Given the description of an element on the screen output the (x, y) to click on. 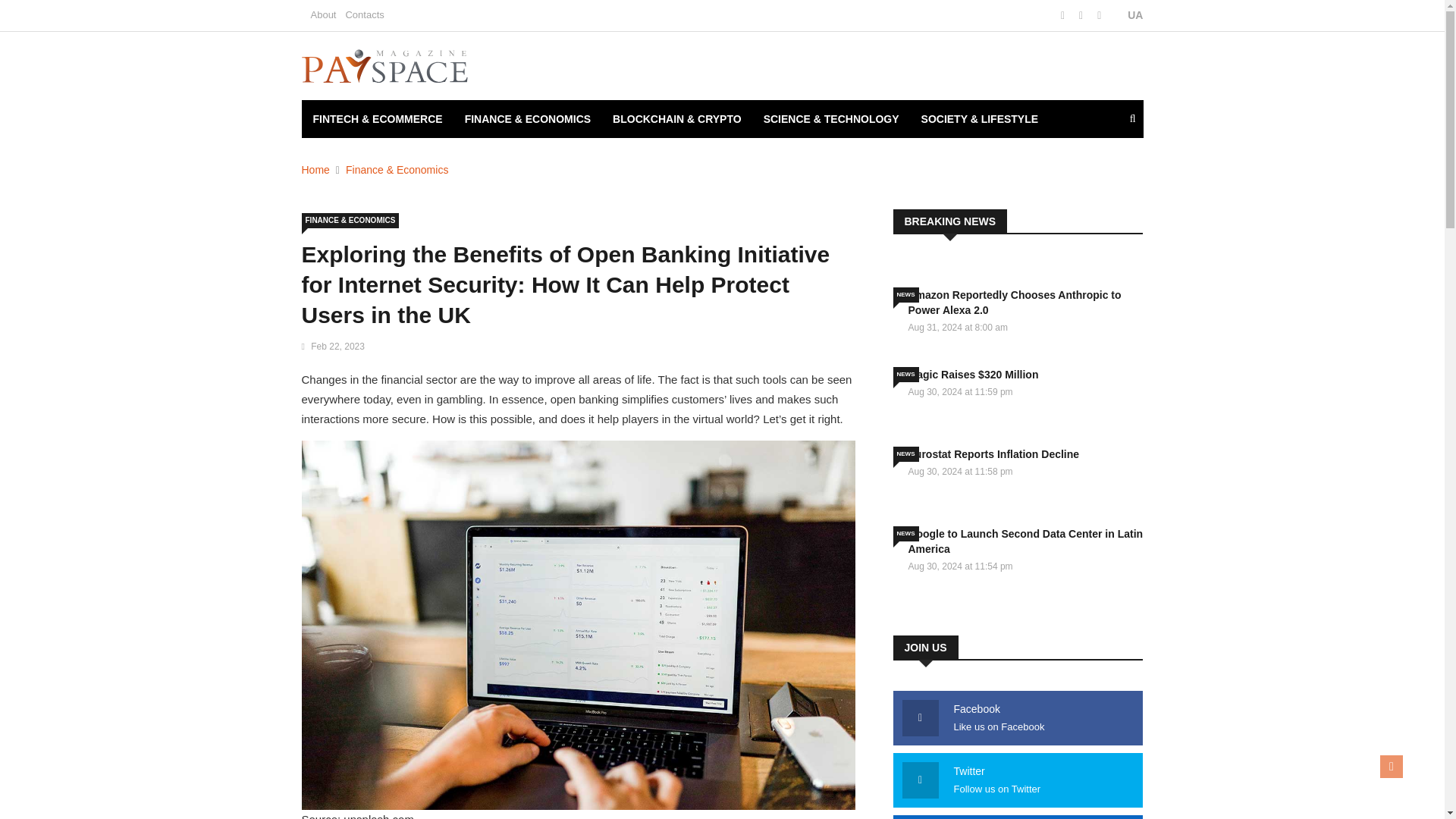
BIN CHECKER (349, 157)
Home (315, 169)
Contacts (364, 14)
Back to Top (1391, 766)
UA (1127, 15)
About (323, 14)
